Given the description of an element on the screen output the (x, y) to click on. 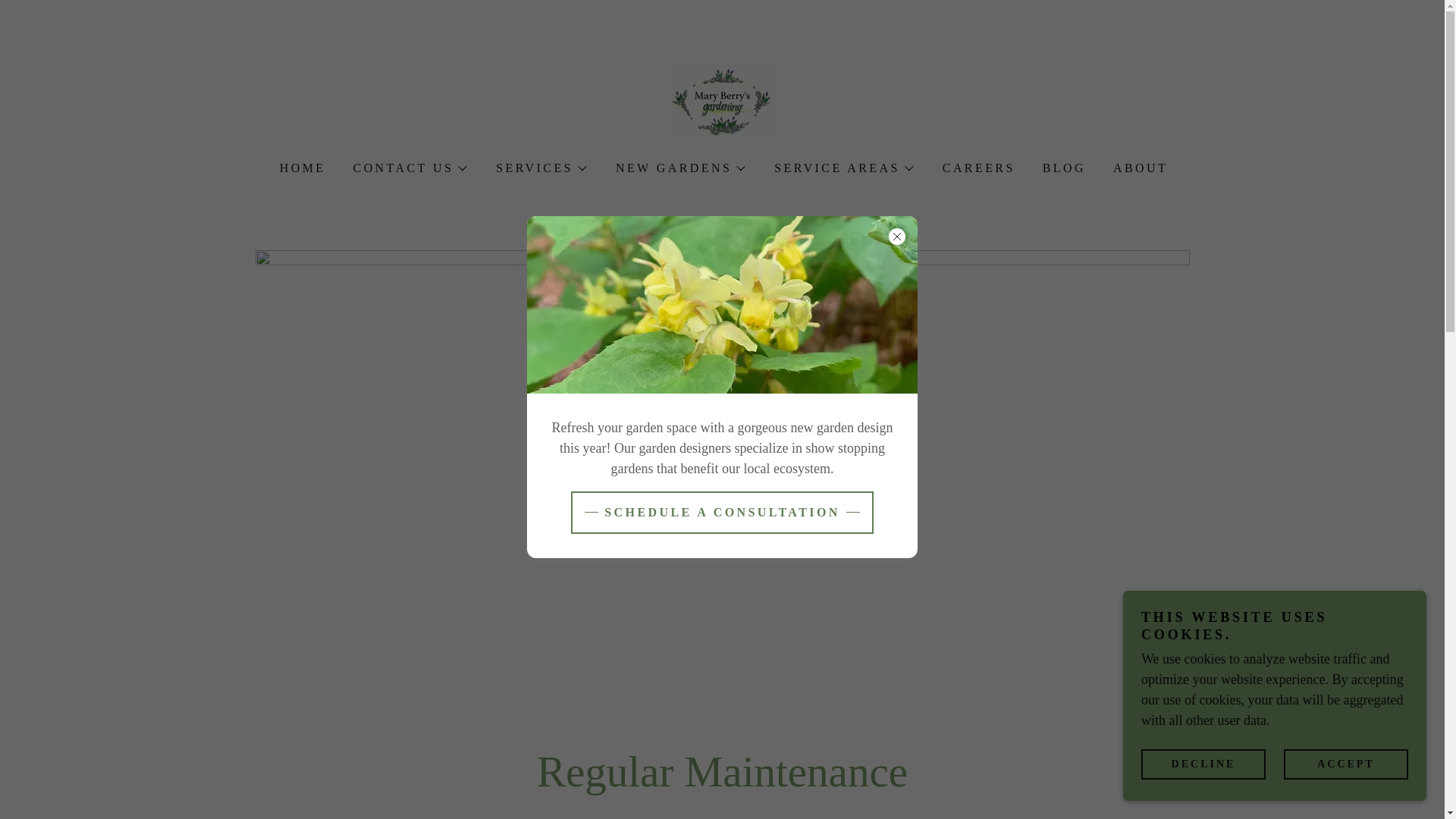
HOME (301, 167)
NEW GARDENS (679, 167)
CAREERS (977, 167)
Mary Berrys Gardening (722, 101)
SERVICE AREAS (842, 167)
ABOUT (1138, 167)
BLOG (1062, 167)
CONTACT US (409, 167)
SERVICES (540, 167)
